Given the description of an element on the screen output the (x, y) to click on. 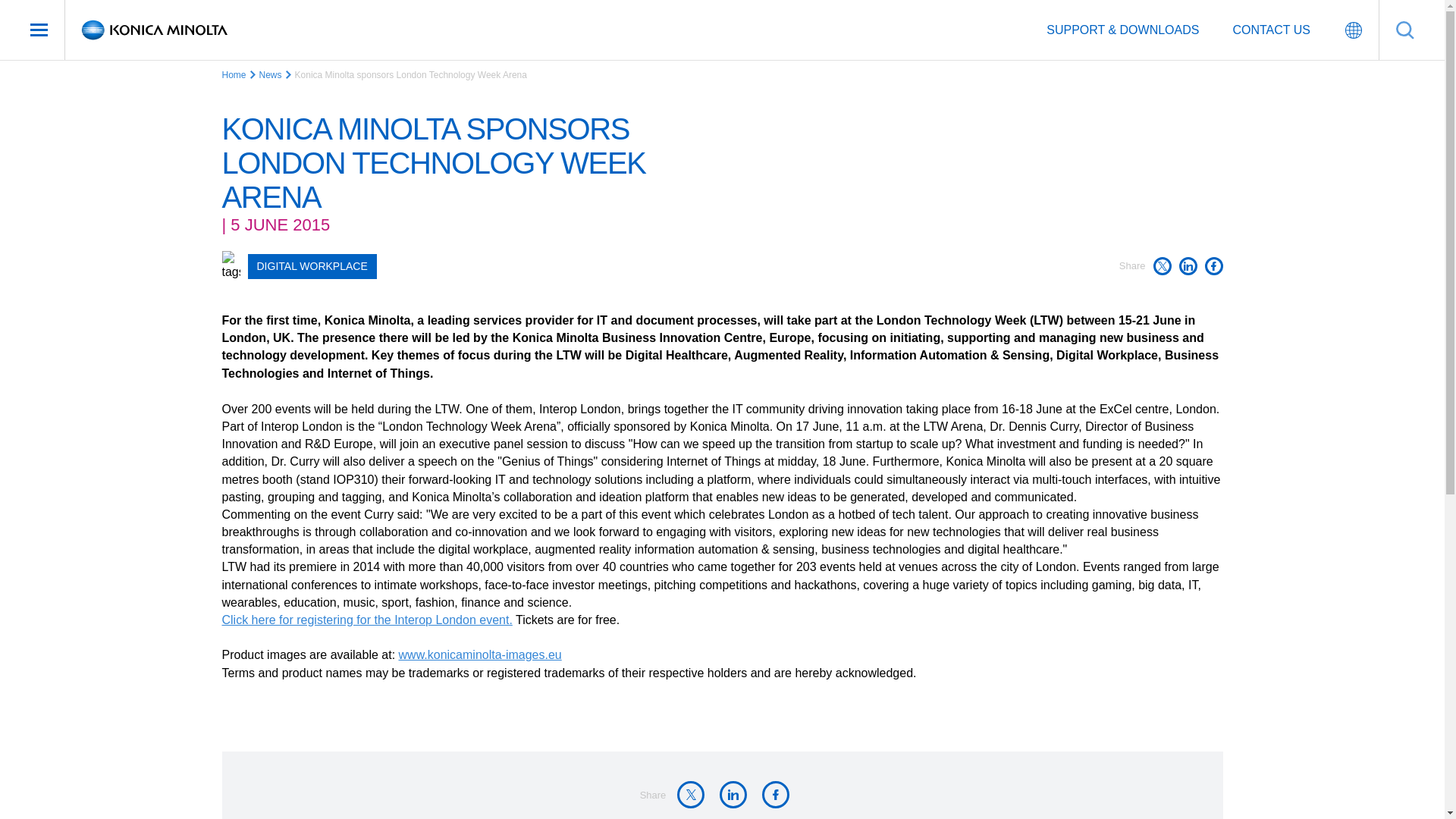
Contact us (1270, 30)
CONTACT US (1270, 30)
Search (1404, 30)
